Given the description of an element on the screen output the (x, y) to click on. 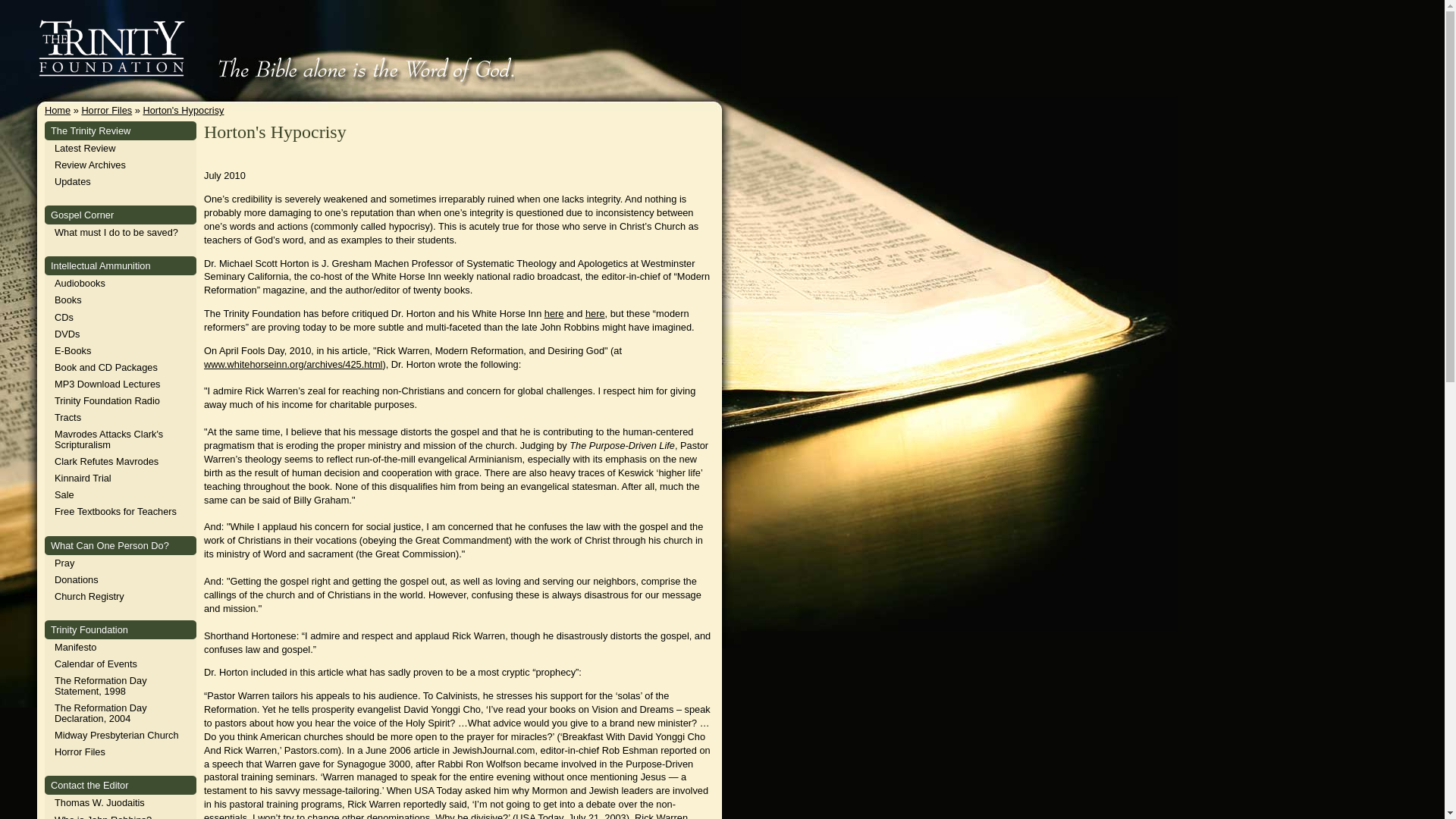
Manifesto (75, 646)
here (595, 313)
Horton's Hypocrisy (183, 110)
Book and CD Packages (106, 367)
Audiobooks (79, 283)
Latest Review (85, 147)
Thomas W. Juodaitis (99, 802)
Donations (77, 579)
here (554, 313)
Midway Presbyterian Church (117, 735)
CDs (64, 317)
Tracts (68, 417)
Clark Refutes Mavrodes (106, 460)
Trinity Foundation Radio (107, 400)
Sale (64, 494)
